Given the description of an element on the screen output the (x, y) to click on. 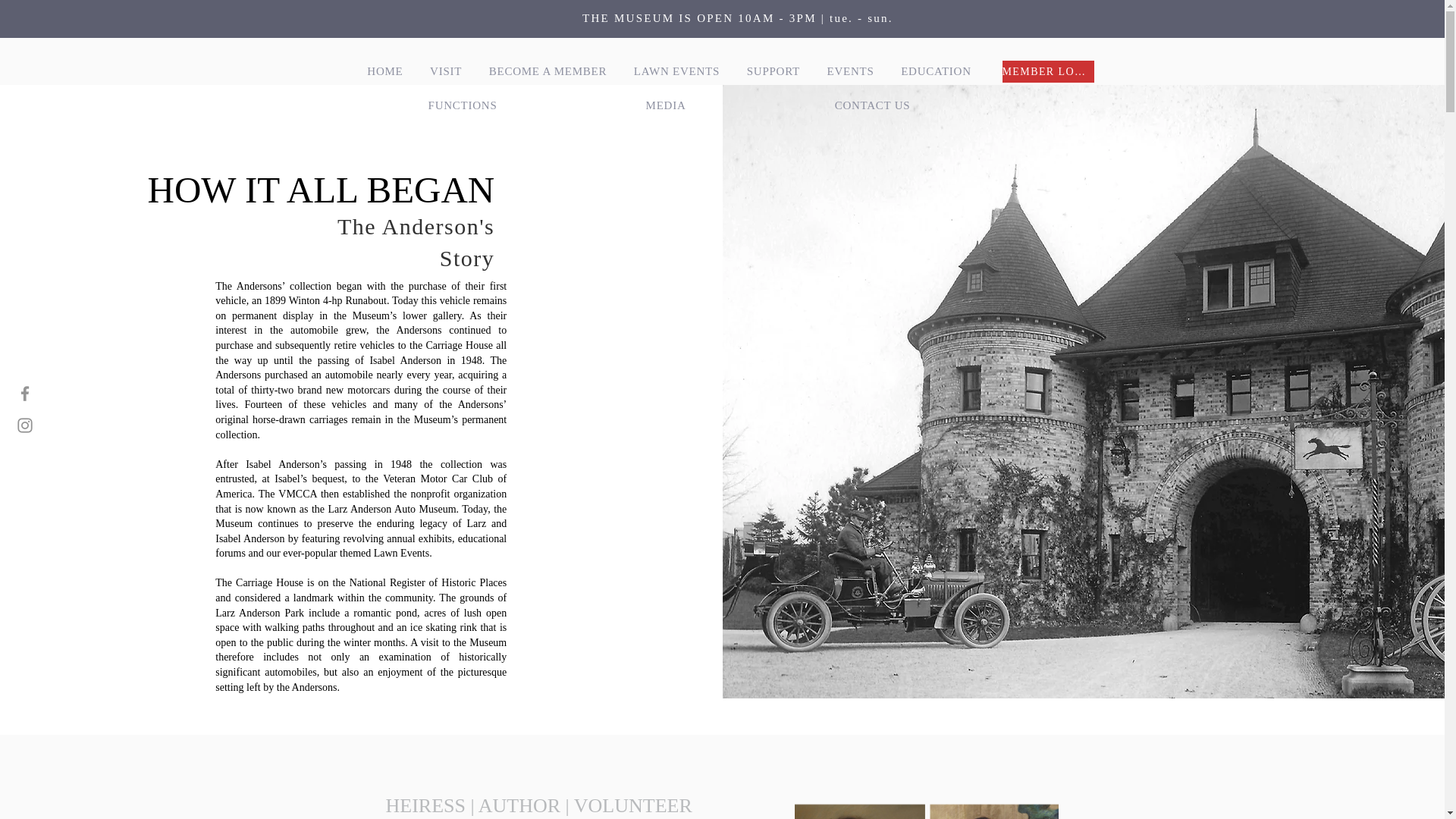
HOME (384, 71)
LAWN EVENTS (676, 71)
BECOME A MEMBER (548, 71)
MEMBER LOGIN (1048, 71)
CONTACT US (871, 105)
isabel.png (926, 811)
